Given the description of an element on the screen output the (x, y) to click on. 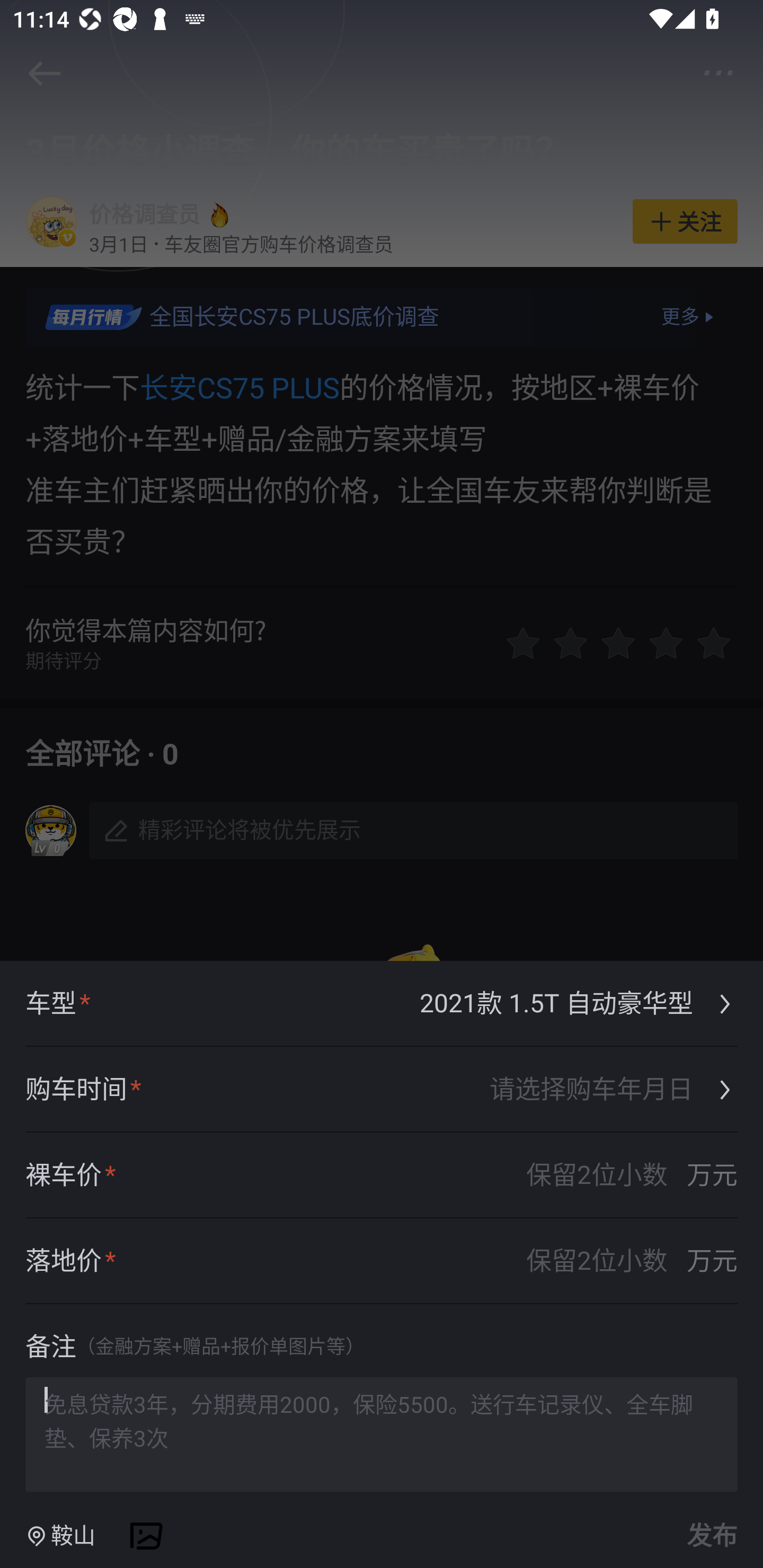
车型 * 2021款 1.5T 自动豪华型 (381, 1004)
购车时间 * 请选择购车年月日 (381, 1089)
免息贷款3年，分期费用2000，保险5500。送行车记录仪、全车脚垫、保养3次 (381, 1433)
发布 (708, 1535)
鞍山 (60, 1536)
